Given the description of an element on the screen output the (x, y) to click on. 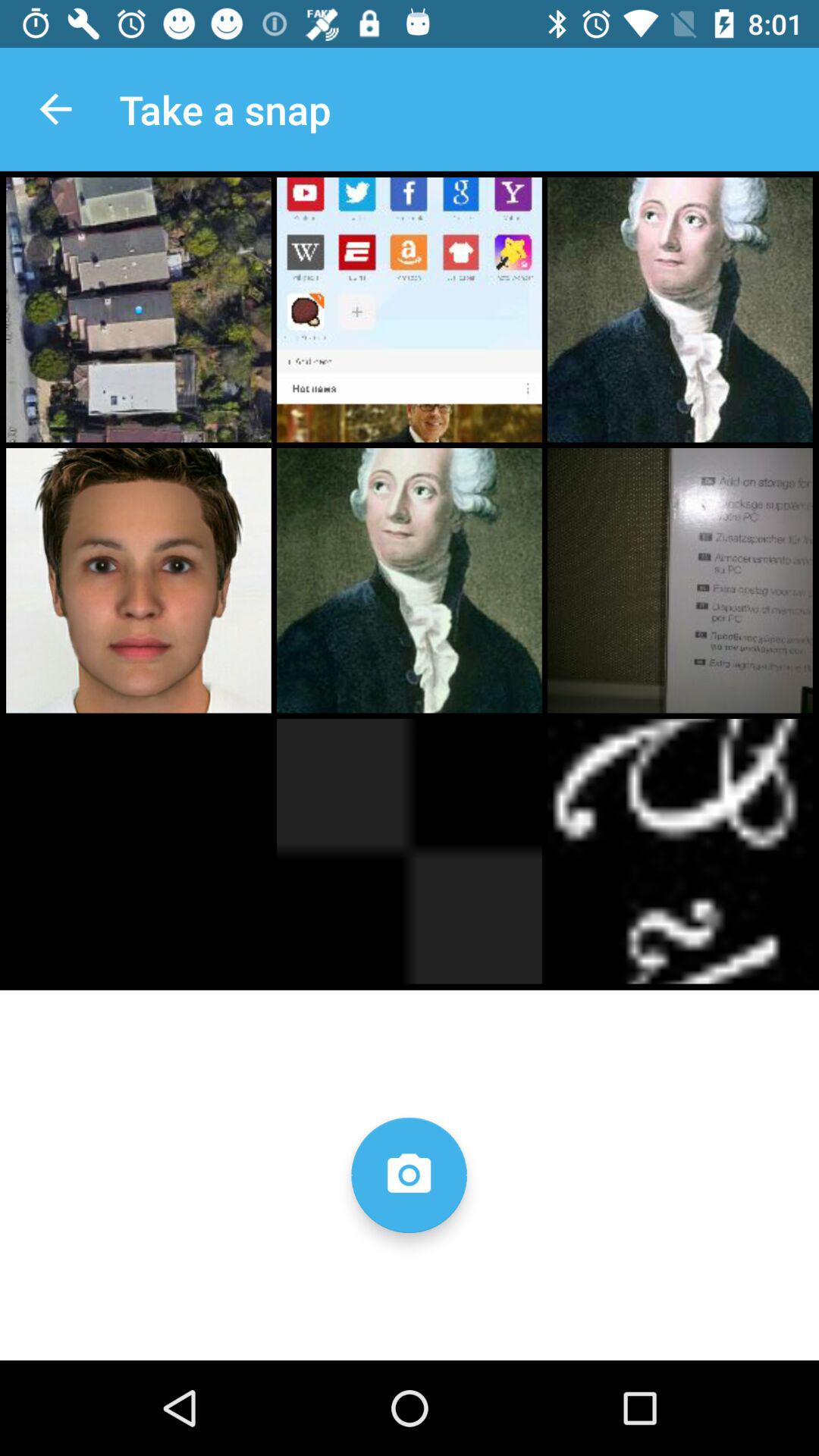
take a photo (408, 1175)
